Given the description of an element on the screen output the (x, y) to click on. 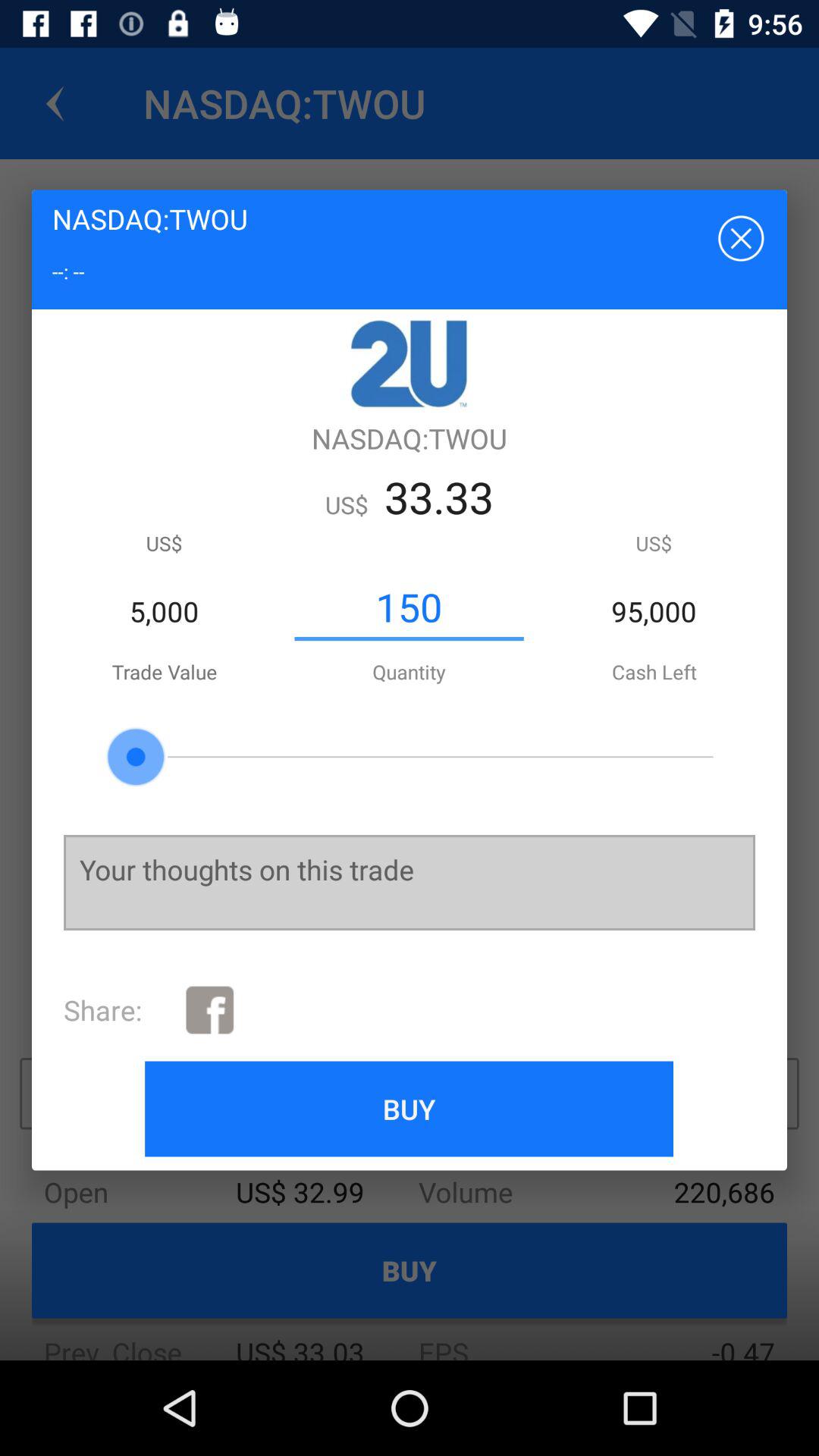
press item above the quantity item (408, 607)
